Given the description of an element on the screen output the (x, y) to click on. 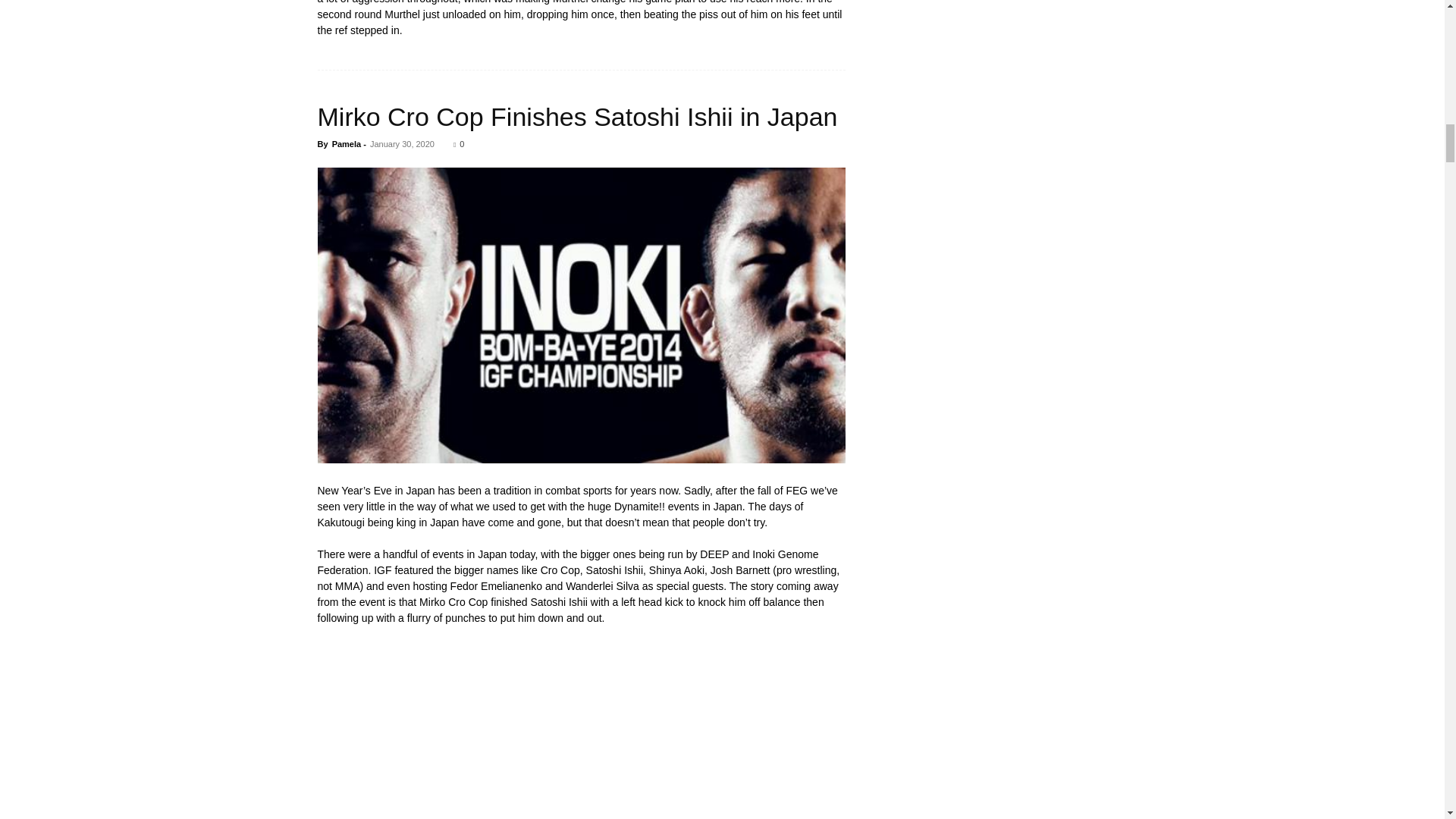
Mirko Cro Cop Finishes Satoshi Ishii in Japan (577, 116)
Mirko Cro Cop vs Satoshi Ishii 31.12.2014. (580, 730)
Mirko Cro Cop Finishes Satoshi Ishii in Japan (577, 116)
0 (458, 143)
Pamela (346, 143)
